Given the description of an element on the screen output the (x, y) to click on. 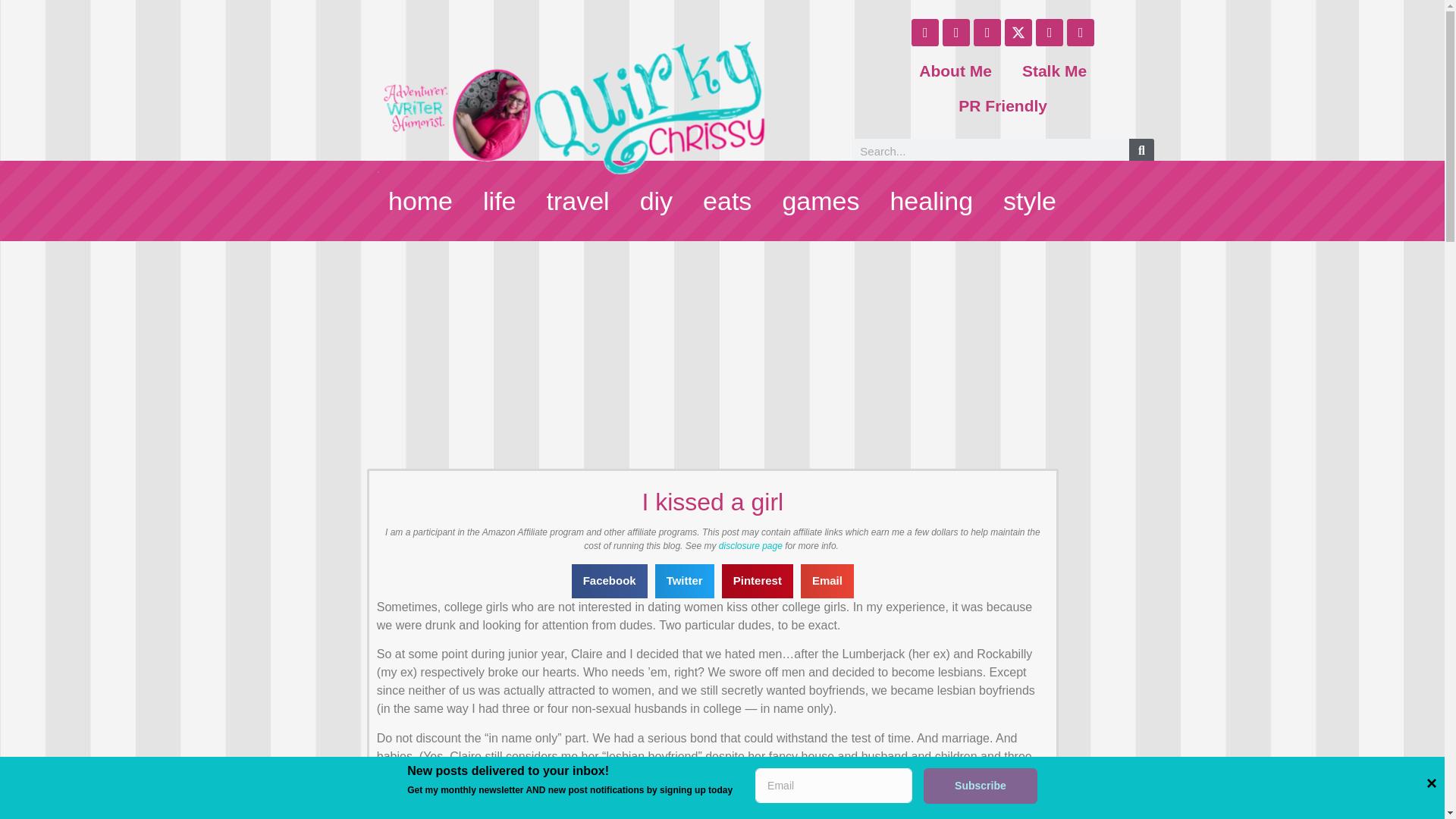
style (1041, 201)
About Me (996, 90)
travel (583, 200)
games (819, 200)
PR Friendly (1036, 54)
home (405, 201)
healing (934, 201)
Stalk Me (1019, 9)
life (501, 200)
disclosure page (751, 545)
eats (728, 199)
diy (660, 199)
